Given the description of an element on the screen output the (x, y) to click on. 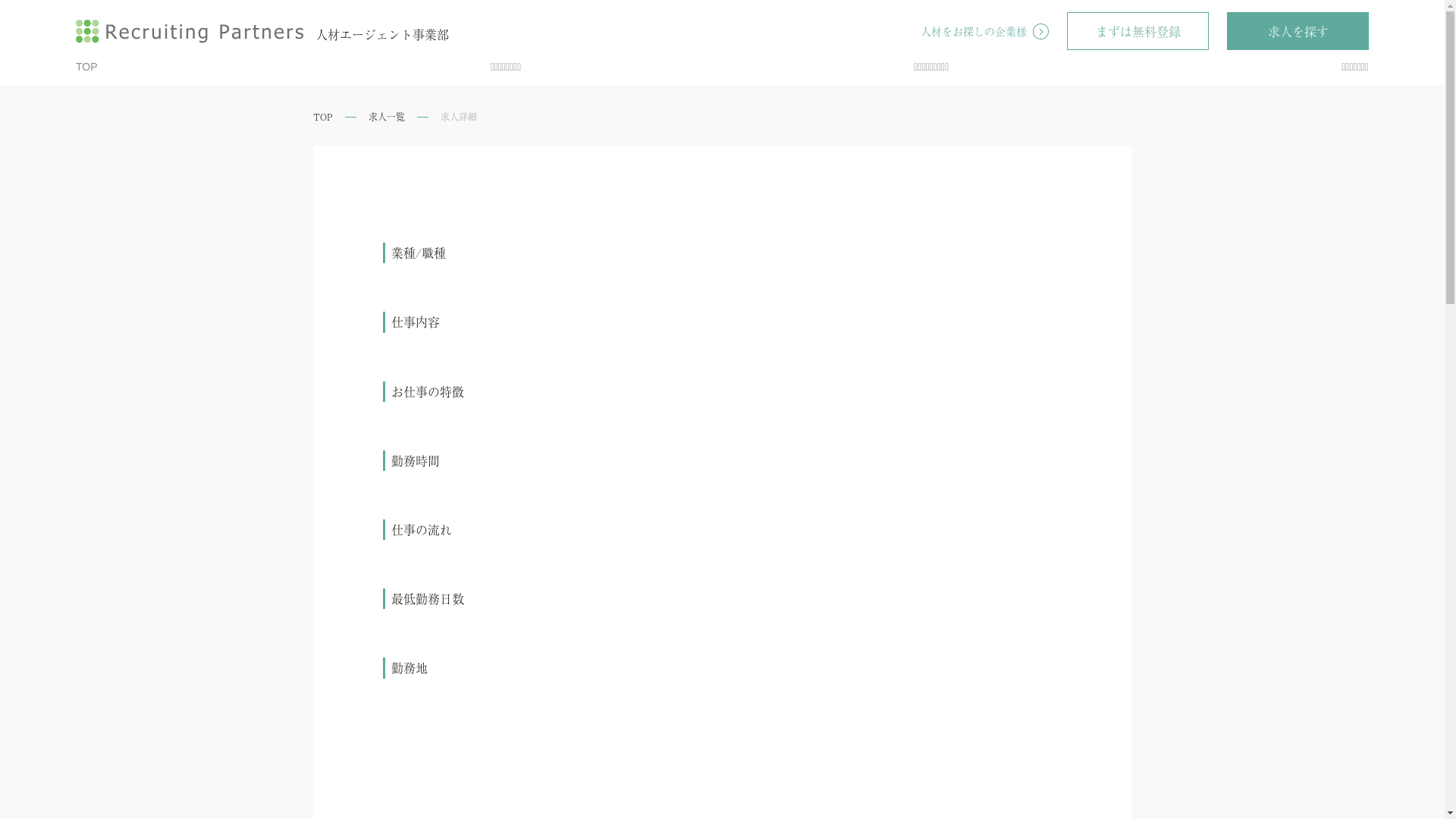
TOP Element type: text (86, 66)
TOP Element type: text (322, 116)
